Given the description of an element on the screen output the (x, y) to click on. 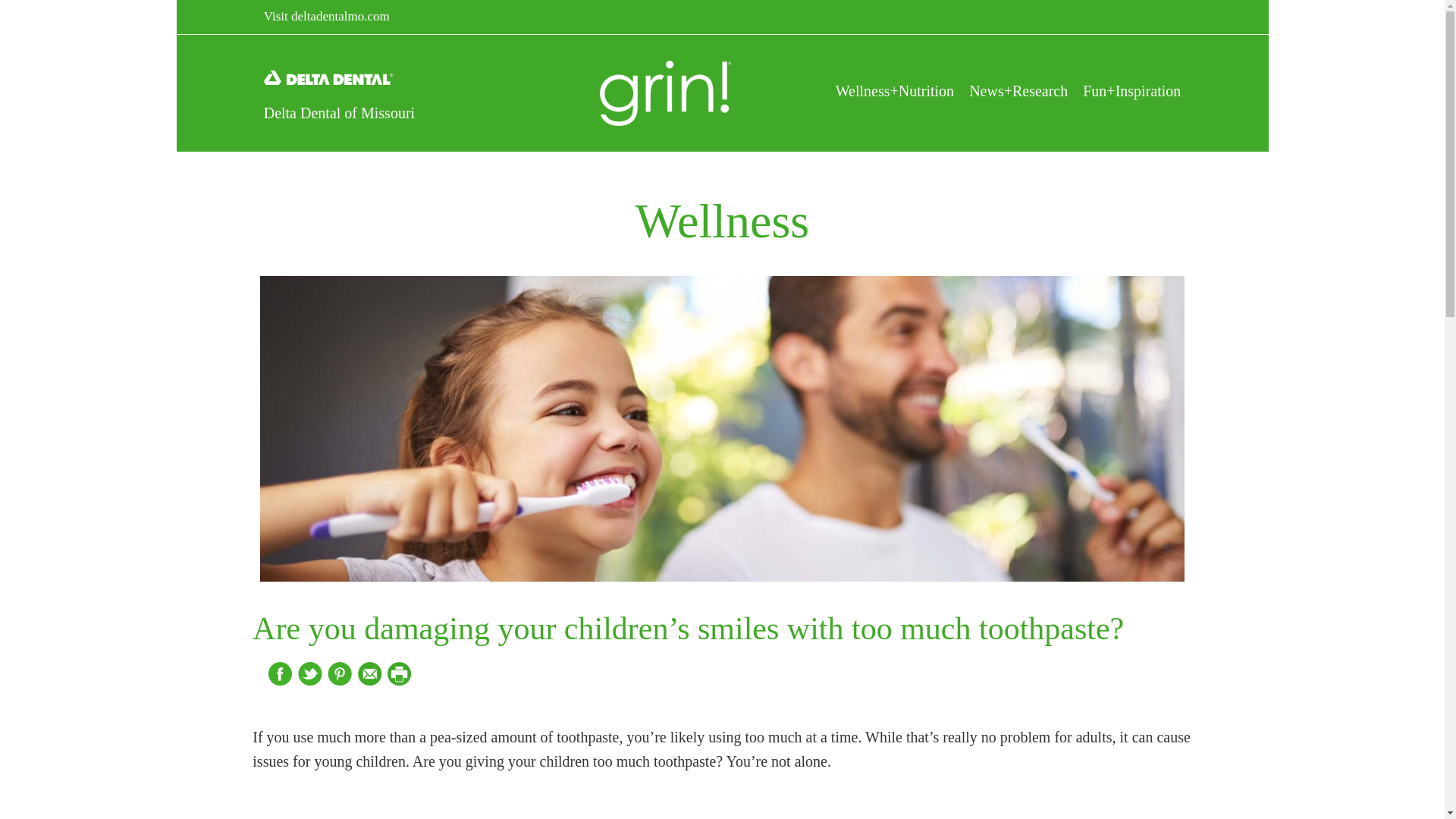
Send Mail (371, 672)
Visit deltadentalmo.com (326, 16)
Print (400, 672)
